Given the description of an element on the screen output the (x, y) to click on. 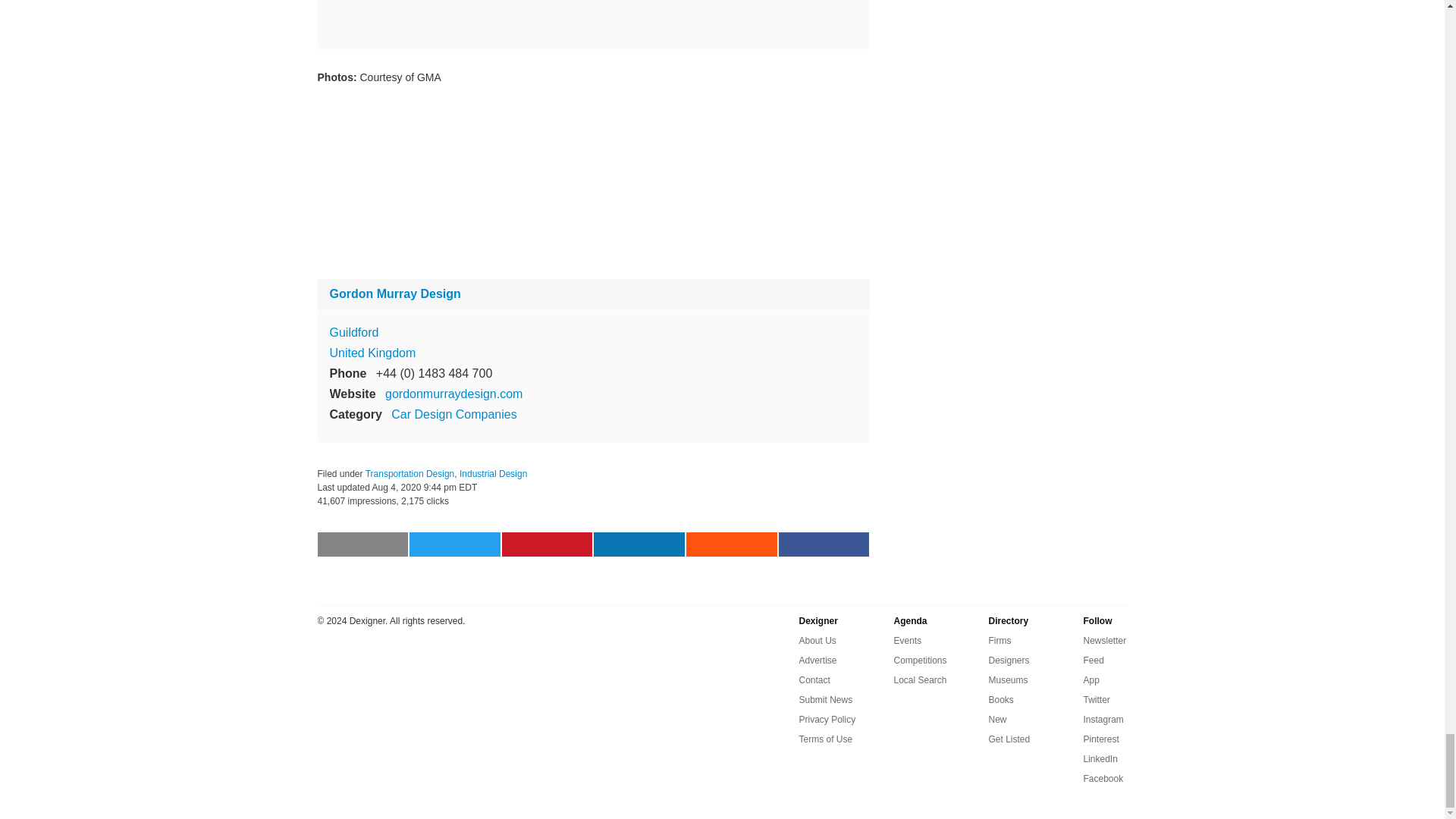
View on Map (353, 331)
Industrial Design (493, 472)
Gordon Murray Design (394, 293)
Museums (1007, 679)
Designers (1008, 660)
Firms (999, 640)
Events (907, 640)
gordonmurraydesign.com (453, 393)
United Kingdom (371, 352)
Advertise (818, 660)
Competitions (919, 660)
Terms of Use (826, 739)
Local Search (919, 679)
Contact (814, 679)
Privacy Policy (827, 719)
